Given the description of an element on the screen output the (x, y) to click on. 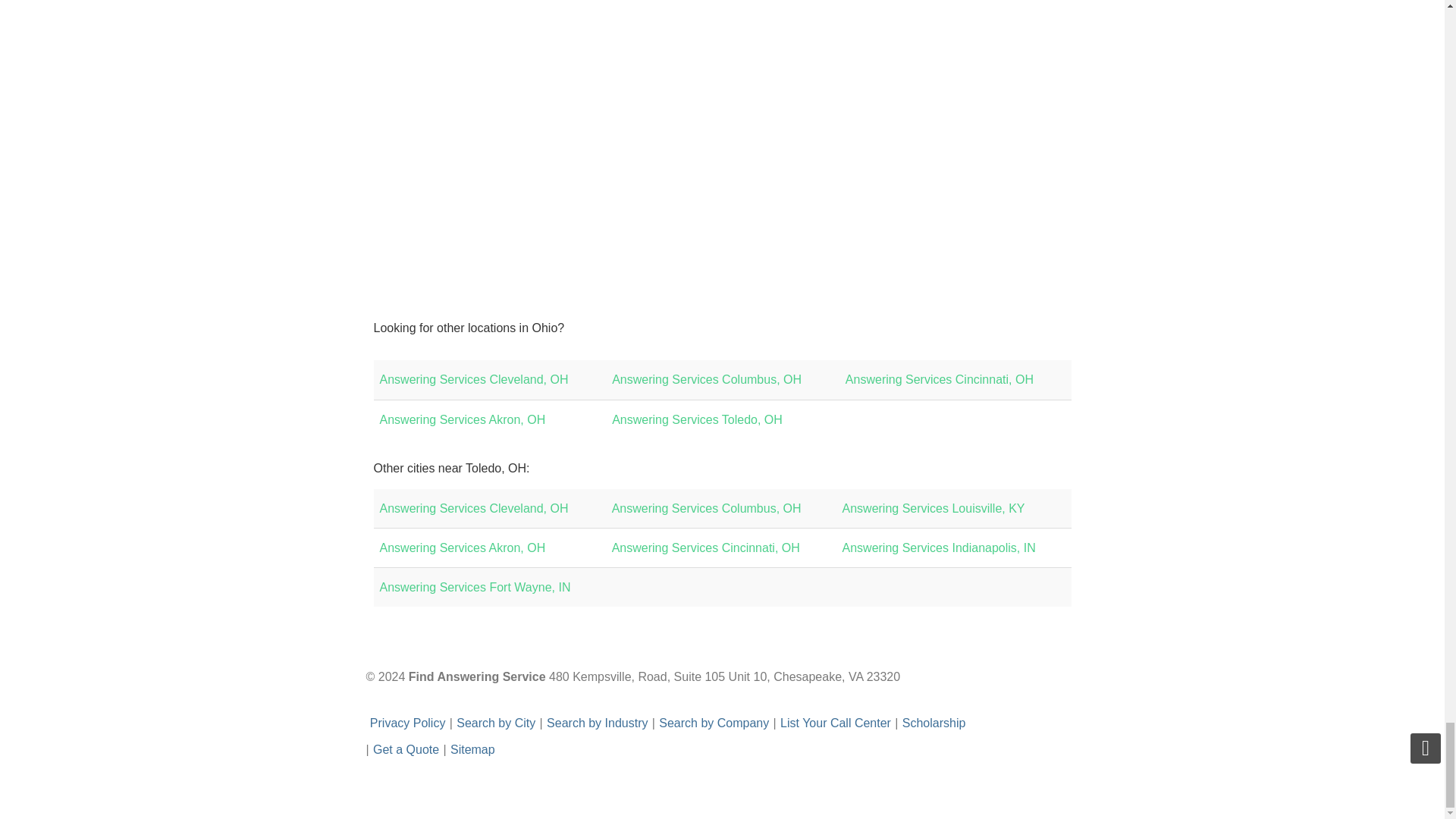
Privacy Policy (407, 722)
Search by Industry (597, 722)
Search by City (496, 722)
Search by Company (713, 722)
